Given the description of an element on the screen output the (x, y) to click on. 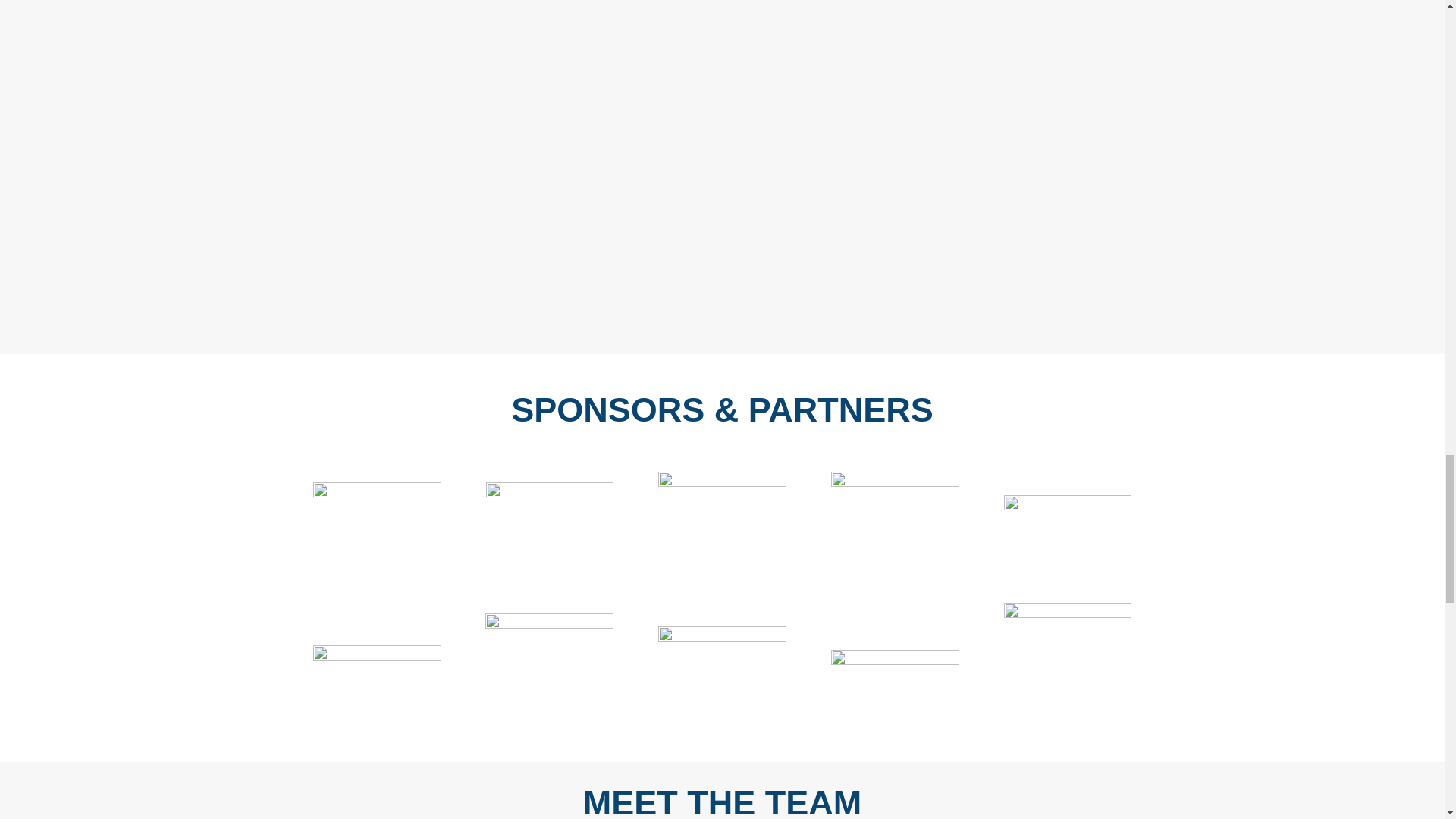
Hospitality Expo 2024 -  Highlights Part 2 (937, 147)
Hospitality Expo 2024 - Highlights Part 1 (505, 147)
